Given the description of an element on the screen output the (x, y) to click on. 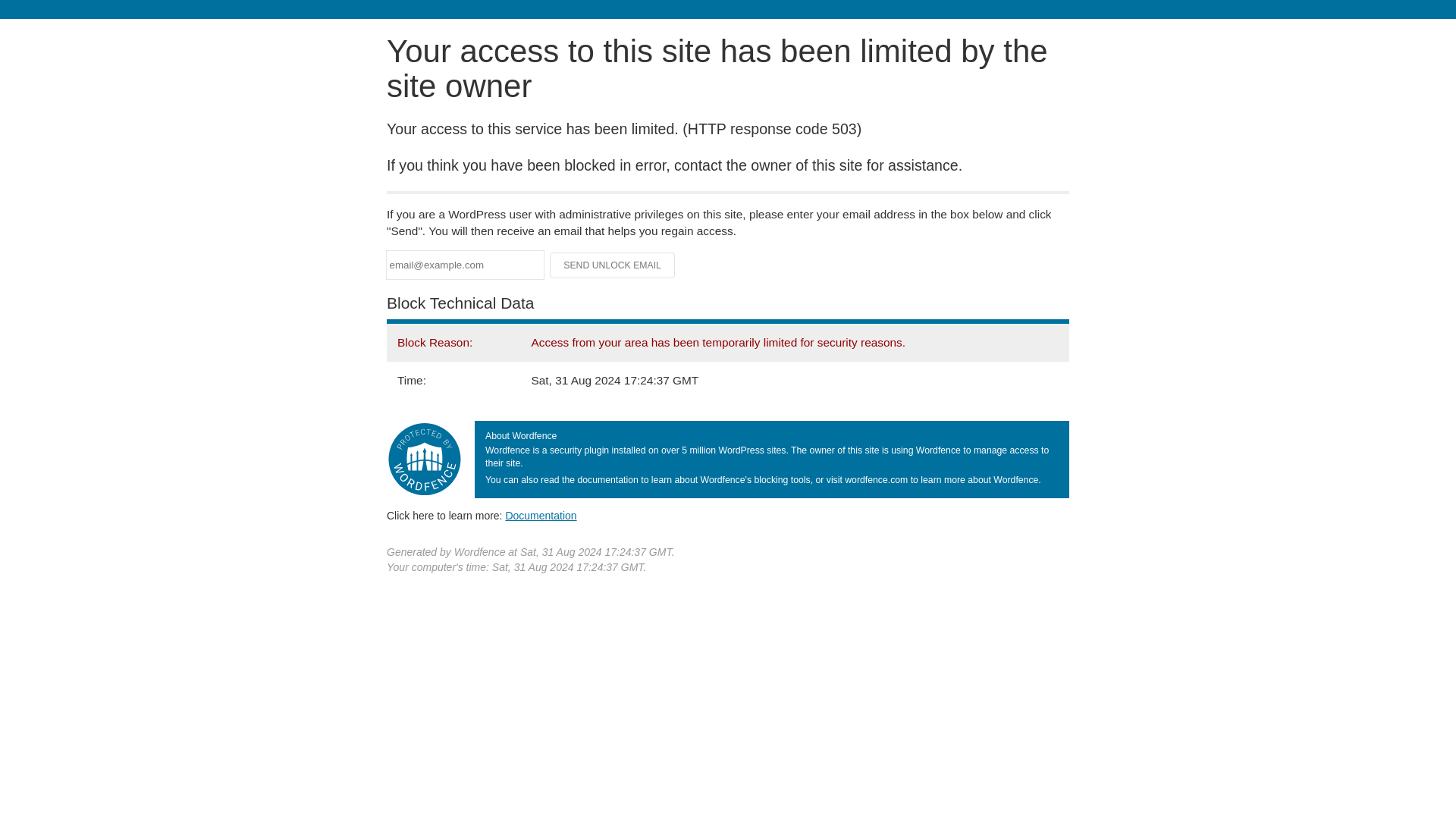
Send Unlock Email (612, 265)
Send Unlock Email (612, 265)
Documentation (540, 515)
